Given the description of an element on the screen output the (x, y) to click on. 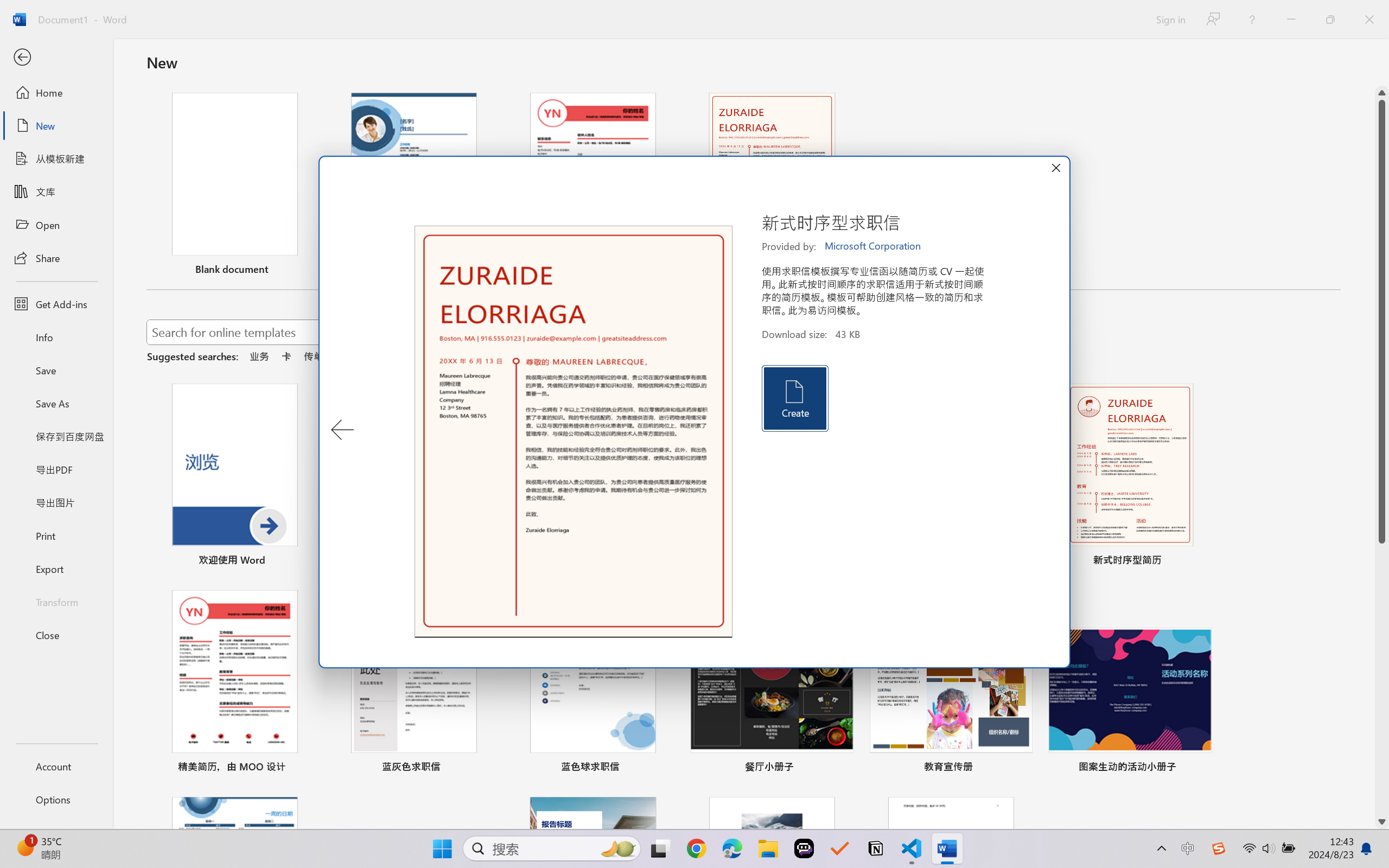
Microsoft Edge (731, 848)
New (56, 125)
Previous Template (342, 430)
Transform (56, 601)
